Given the description of an element on the screen output the (x, y) to click on. 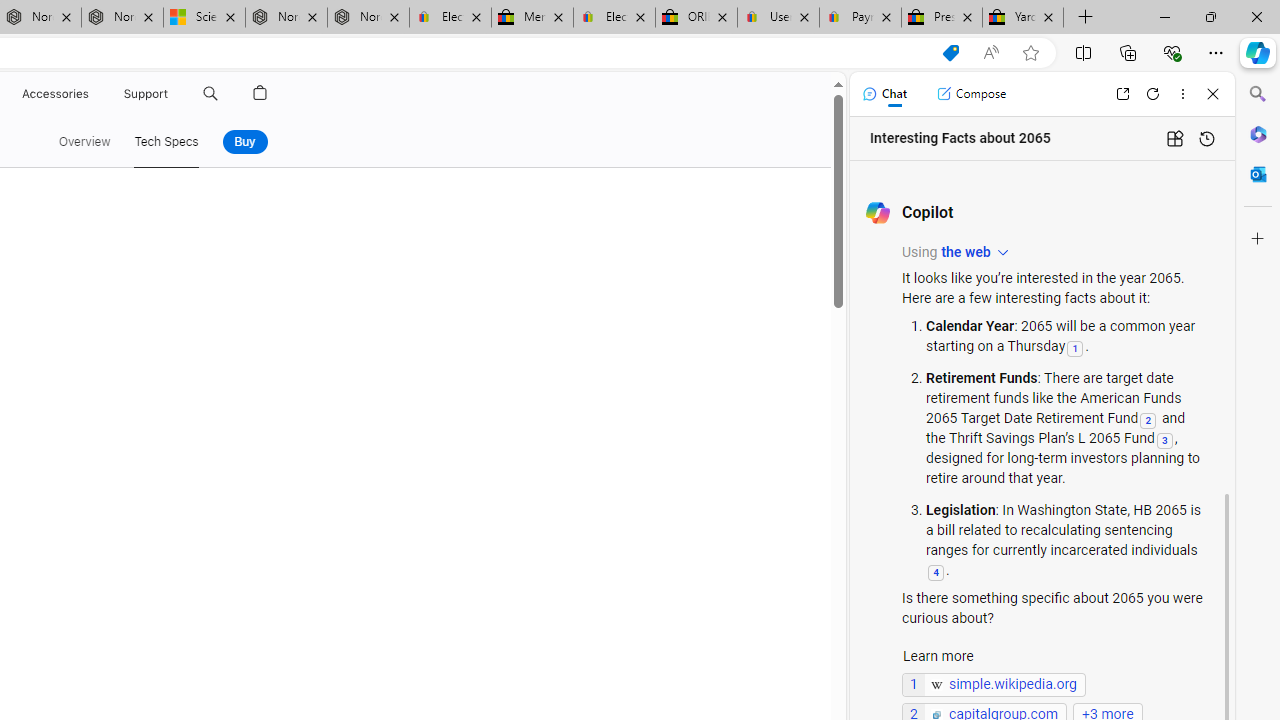
Shopping Bag (260, 93)
Tech Specs (166, 141)
Support (146, 93)
Support (146, 93)
Accessories menu (91, 93)
